Given the description of an element on the screen output the (x, y) to click on. 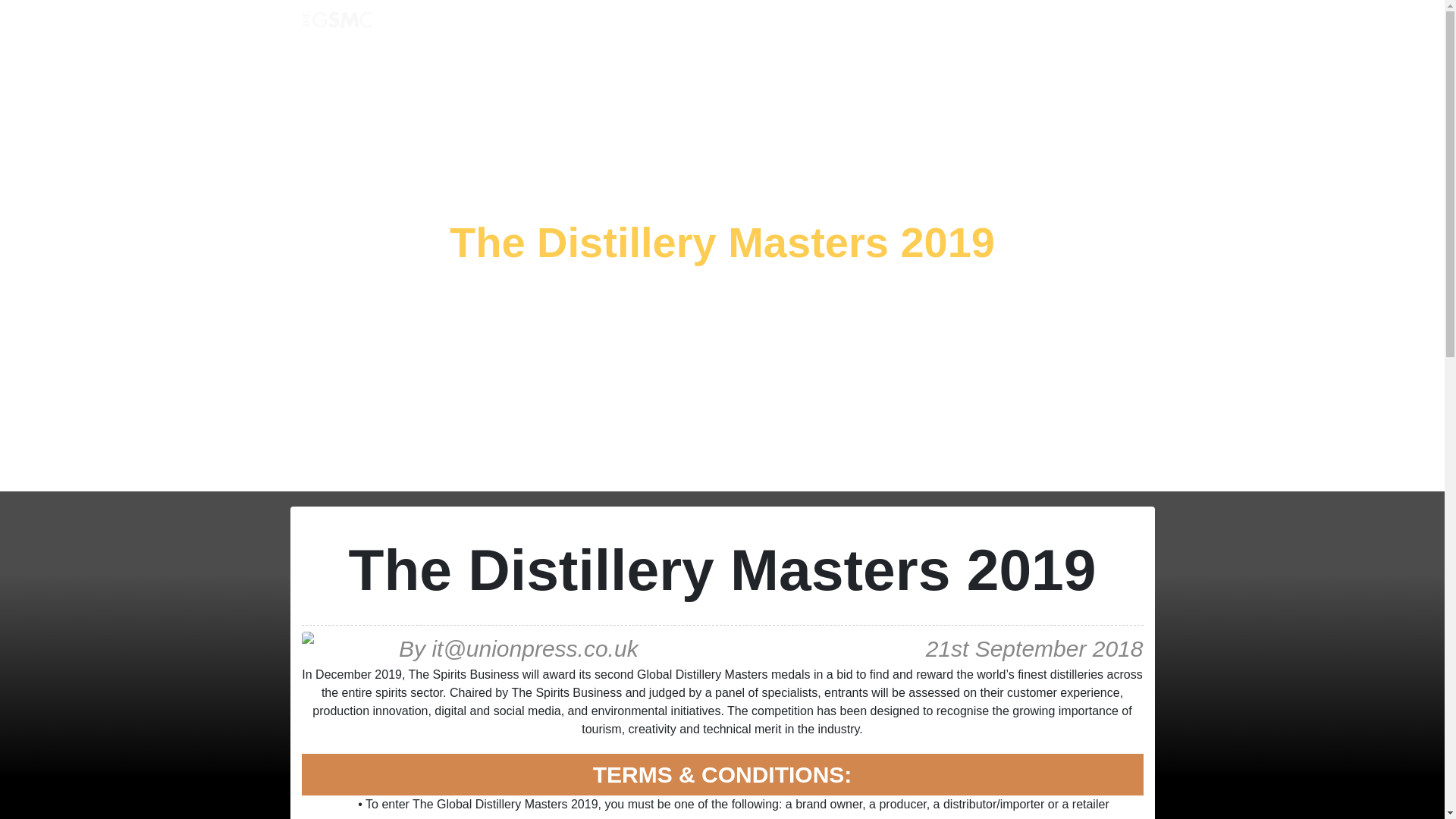
Testimonials (787, 22)
Results (596, 22)
Results (596, 22)
Gallery (857, 22)
The Spirits Business (955, 22)
The Distillery Masters 2019 (721, 242)
Gallery (857, 22)
Competitions (523, 22)
Competitions (523, 22)
Medal Promotion (686, 22)
Testimonials (787, 22)
The Distillery Masters 2019 (721, 242)
